Given the description of an element on the screen output the (x, y) to click on. 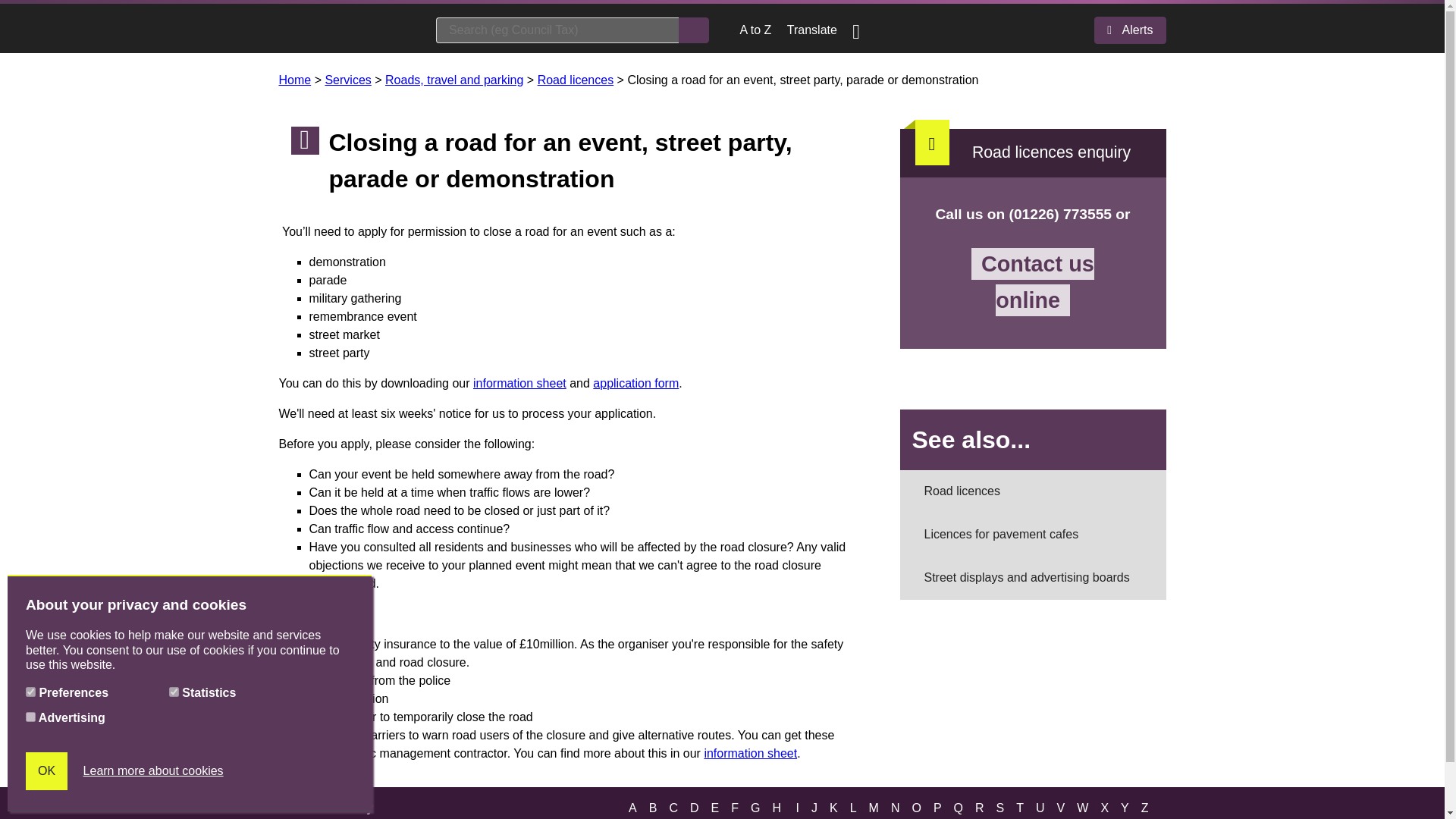
Contact us online (1032, 282)
Road licences (575, 79)
F (734, 808)
True (173, 691)
True (30, 691)
L (853, 808)
D (694, 808)
Events information sheet (519, 382)
Alerts (1130, 30)
Street displays and advertising boards (1032, 577)
